Given the description of an element on the screen output the (x, y) to click on. 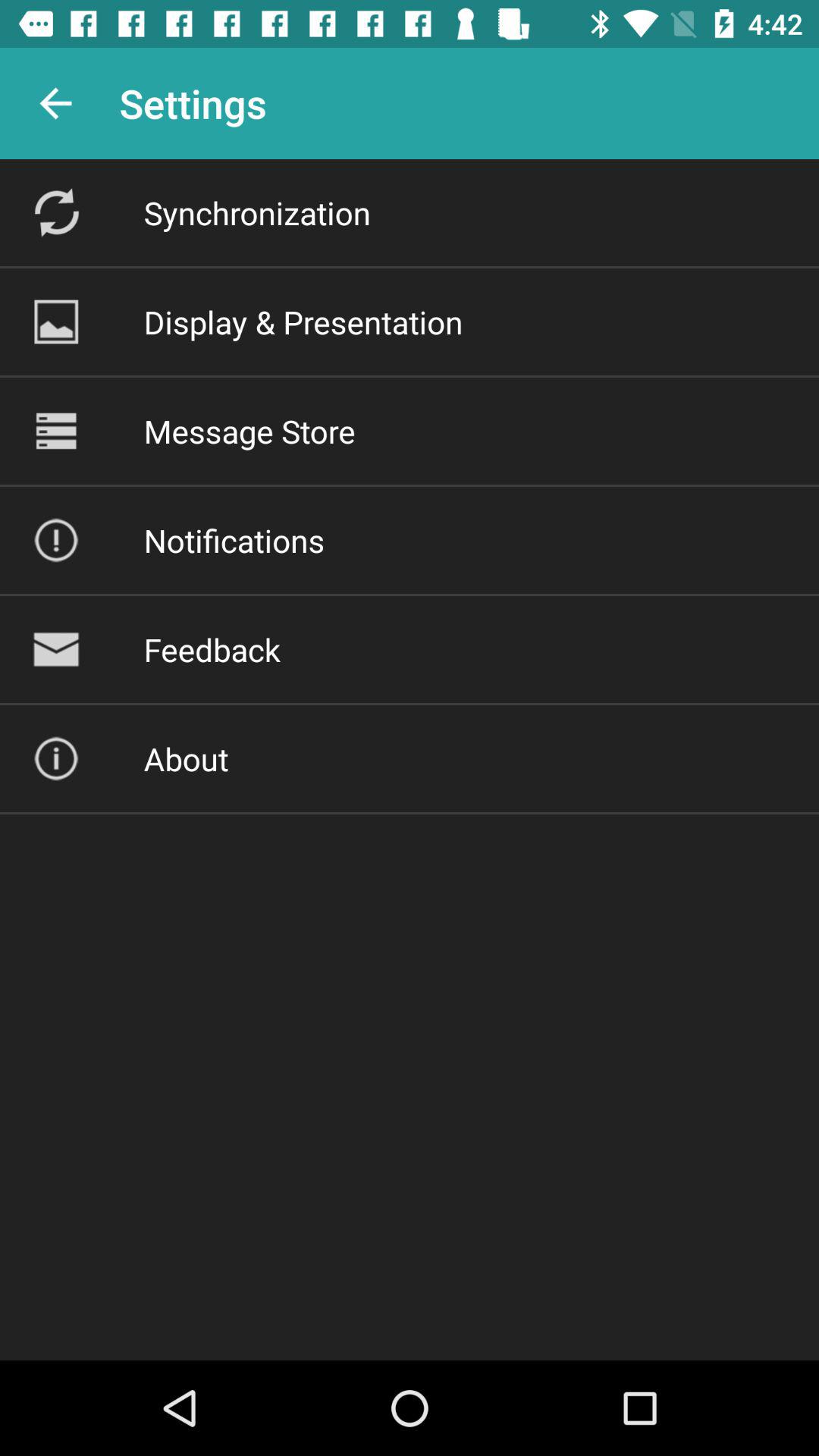
choose the synchronization item (256, 212)
